Given the description of an element on the screen output the (x, y) to click on. 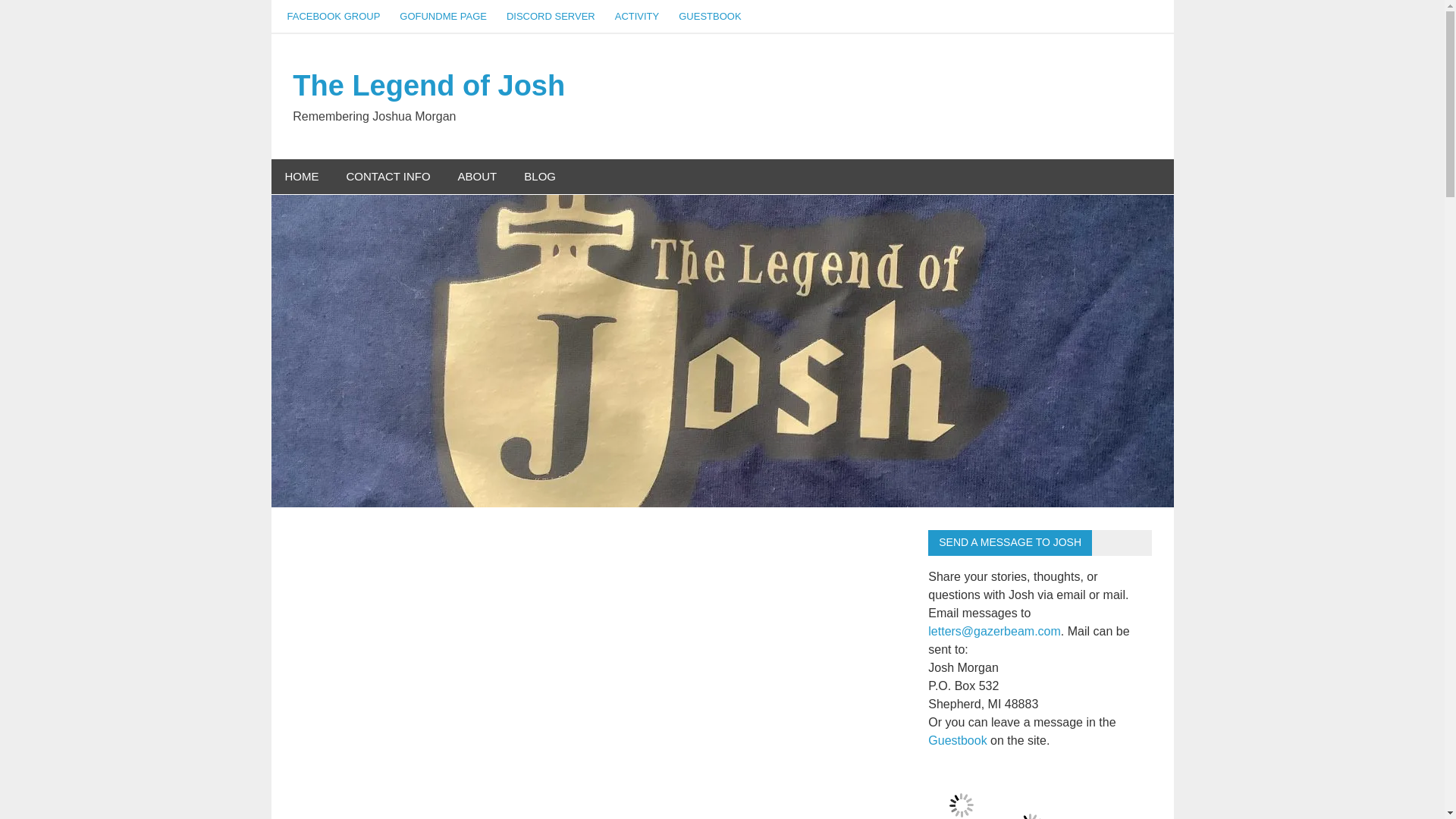
The Legend of Josh (428, 85)
FACEBOOK GROUP (334, 16)
ACTIVITY (637, 16)
ABOUT (477, 176)
BLOG (540, 176)
GUESTBOOK (709, 16)
HOME (301, 176)
Guestbook (957, 739)
CONTACT INFO (387, 176)
DISCORD SERVER (550, 16)
